Given the description of an element on the screen output the (x, y) to click on. 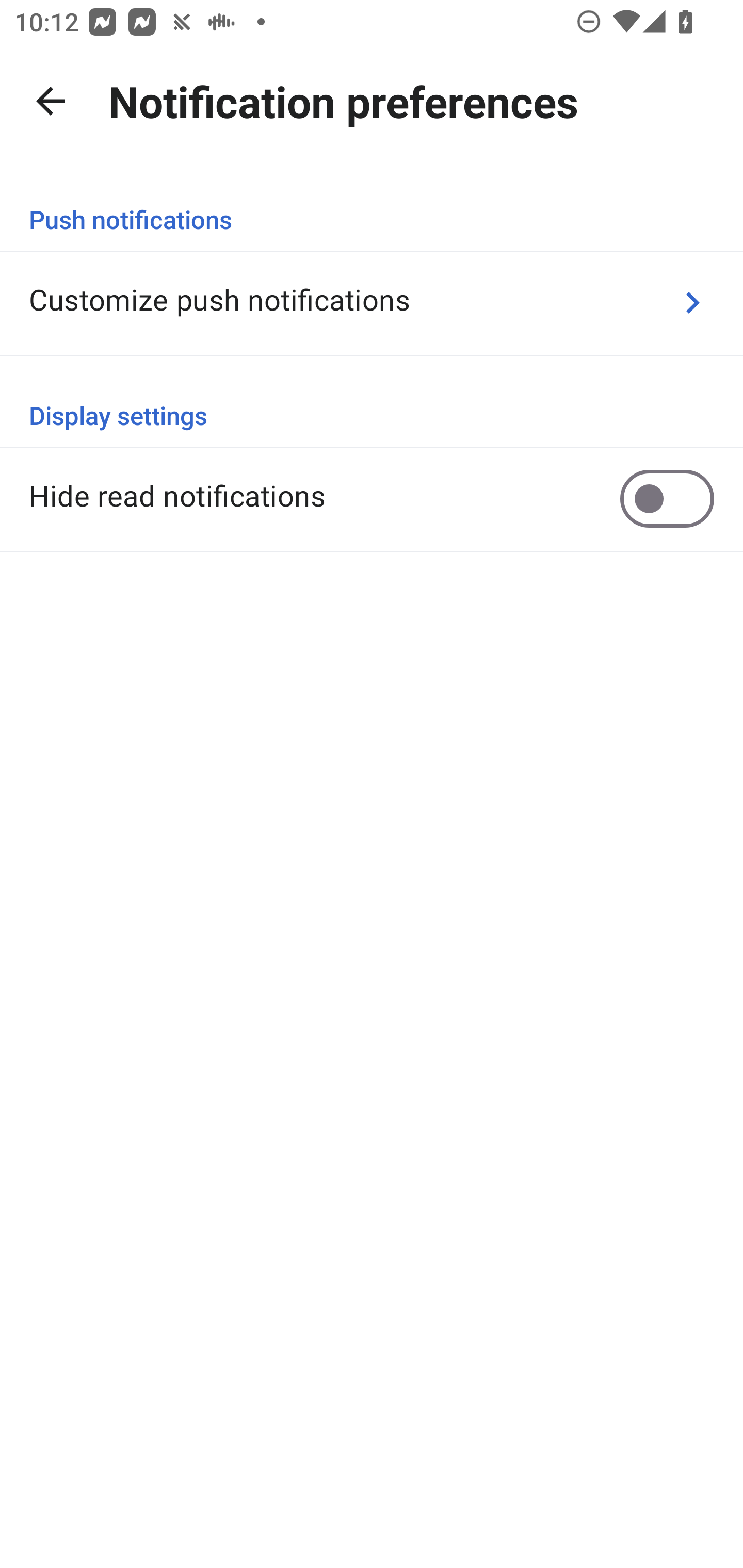
Navigate up (50, 101)
Customize push notifications (371, 302)
Hide read notifications (371, 498)
